Given the description of an element on the screen output the (x, y) to click on. 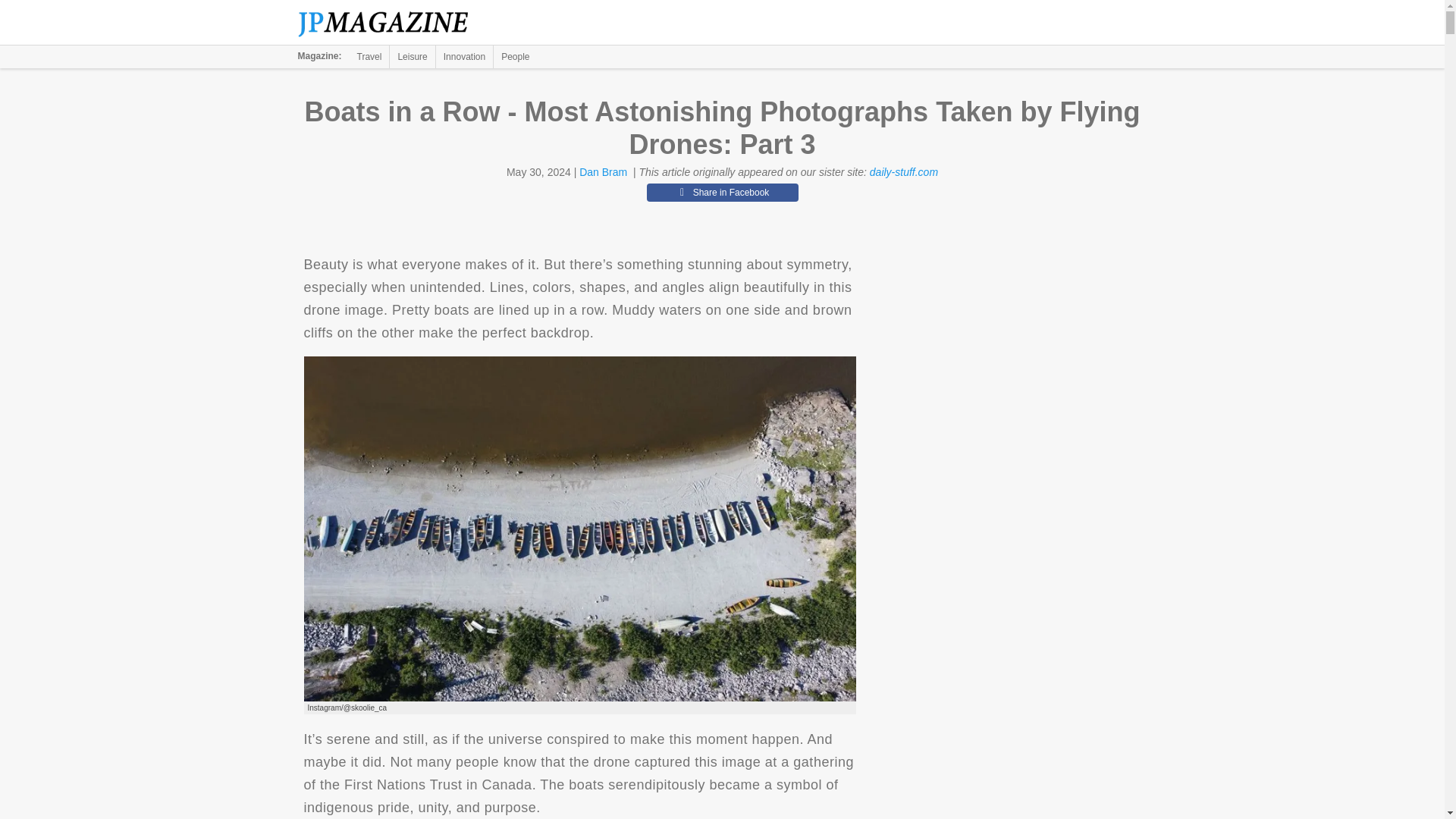
The Jerusalem Post Magazine (391, 22)
Innovation (464, 56)
Dan Bram (603, 172)
Leisure (411, 56)
People (515, 56)
daily-stuff.com (903, 172)
Share in Facebook (721, 192)
Travel (369, 56)
